Given the description of an element on the screen output the (x, y) to click on. 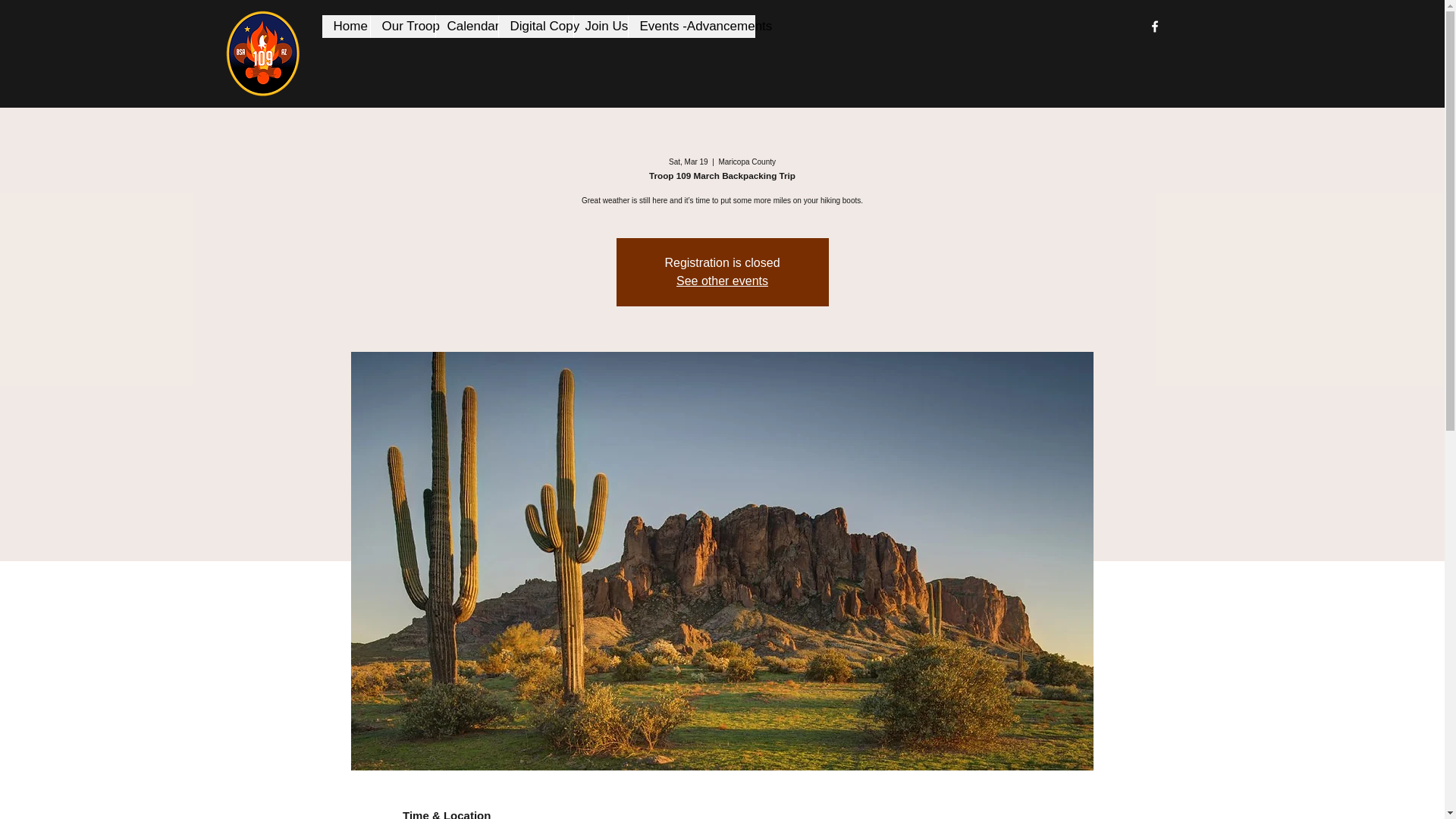
Calendar (466, 26)
Home (345, 26)
Join Us (600, 26)
See other events (722, 280)
